Given the description of an element on the screen output the (x, y) to click on. 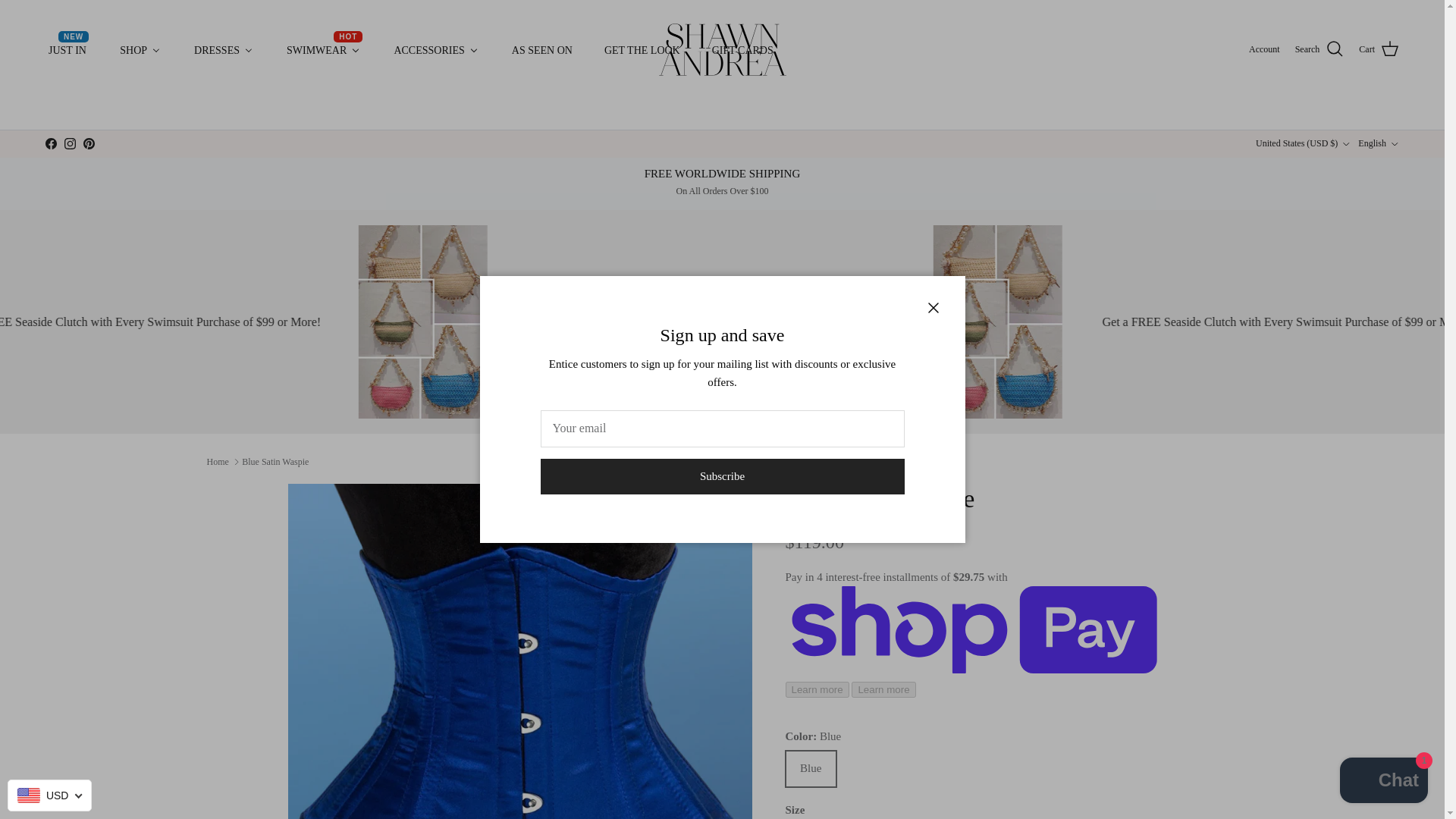
SHAWN ANDREA on Instagram (69, 143)
SHAWN ANDREA on Facebook (50, 143)
SHOP (140, 50)
JUST INNEW (323, 50)
ACCESSORIES (67, 50)
SHAWN ANDREA on Pinterest (436, 50)
SHAWN ANDREA (88, 143)
DRESSES (722, 49)
